Given the description of an element on the screen output the (x, y) to click on. 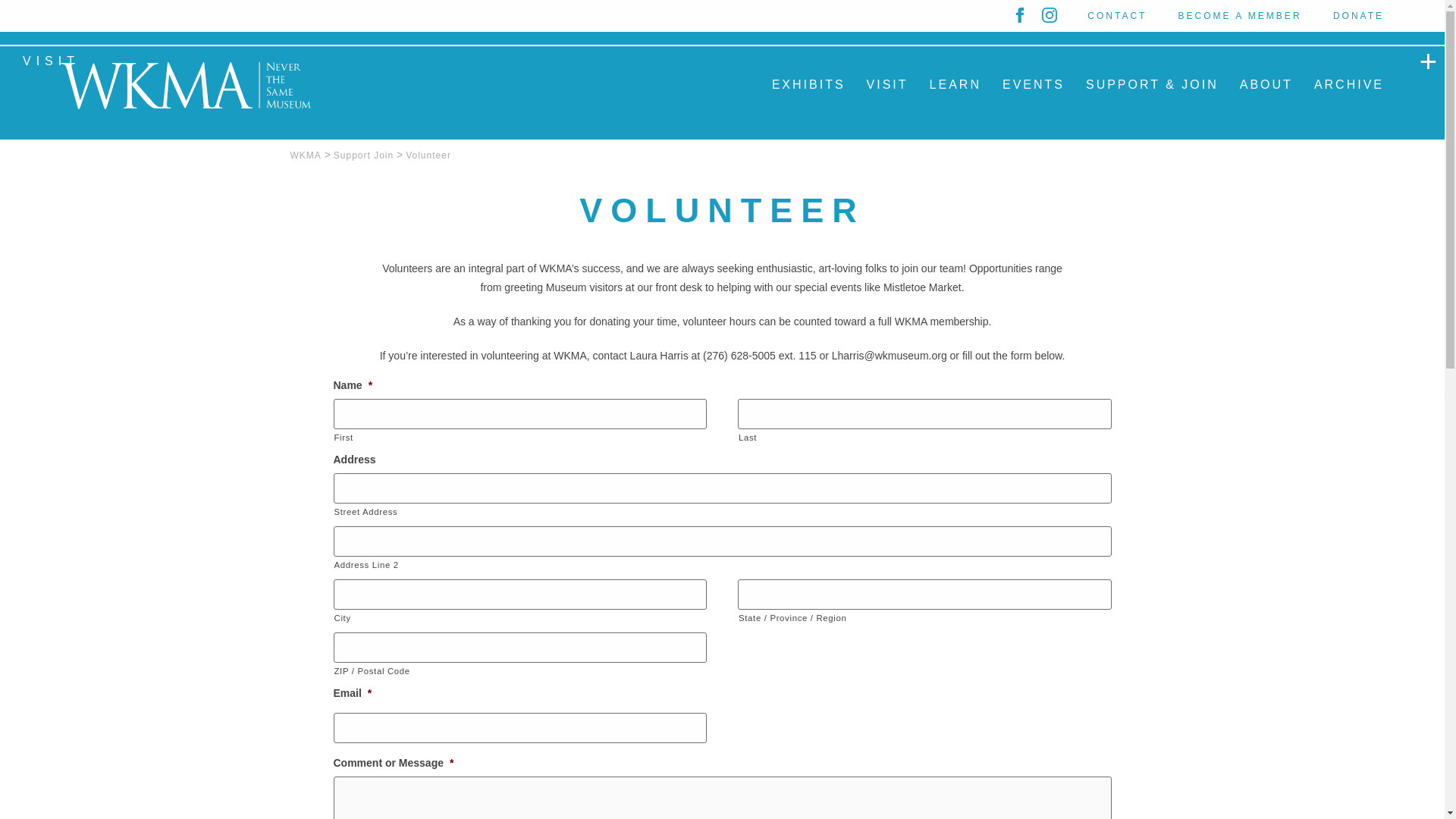
DONATE (1358, 15)
VISIT (50, 61)
CONTACT (1119, 15)
BECOME A MEMBER (1241, 15)
